Given the description of an element on the screen output the (x, y) to click on. 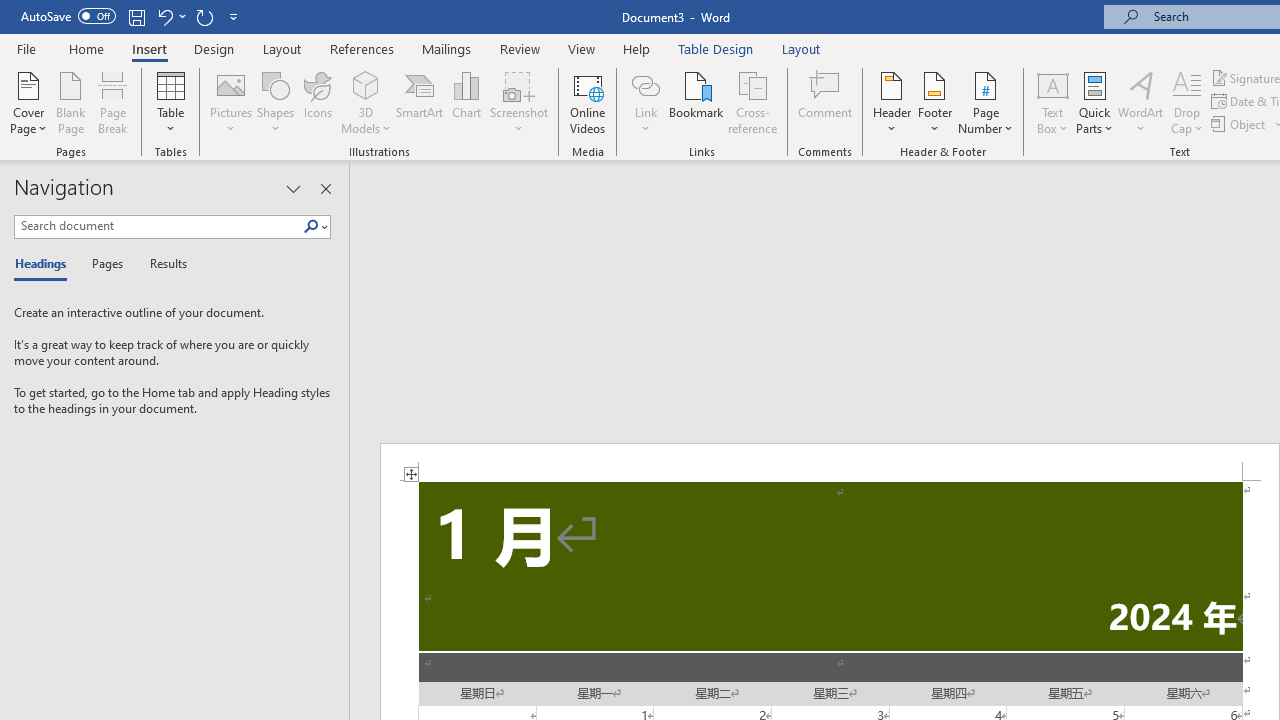
Chart... (466, 102)
Pictures (230, 102)
Link (645, 84)
WordArt (1141, 102)
SmartArt... (419, 102)
Cover Page (28, 102)
Object... (1240, 124)
Bookmark... (695, 102)
